Given the description of an element on the screen output the (x, y) to click on. 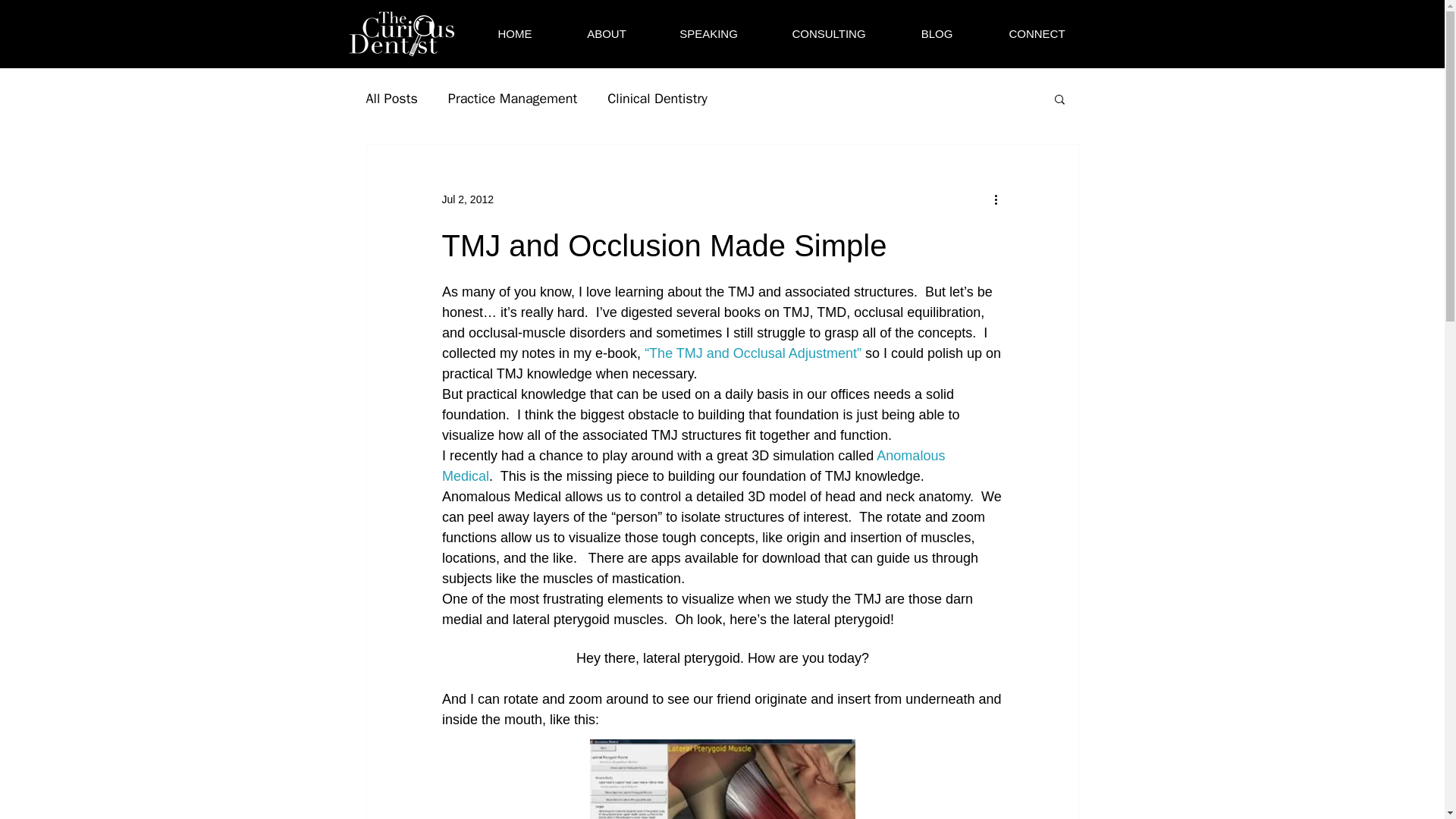
Jul 2, 2012 (467, 198)
CONSULTING (828, 34)
HOME (515, 34)
All Posts (390, 98)
CONNECT (1036, 34)
Practice Management (512, 98)
SPEAKING (708, 34)
Clinical Dentistry (657, 98)
ABOUT (605, 34)
BLOG (936, 34)
Anomalous Medical (694, 465)
